Given the description of an element on the screen output the (x, y) to click on. 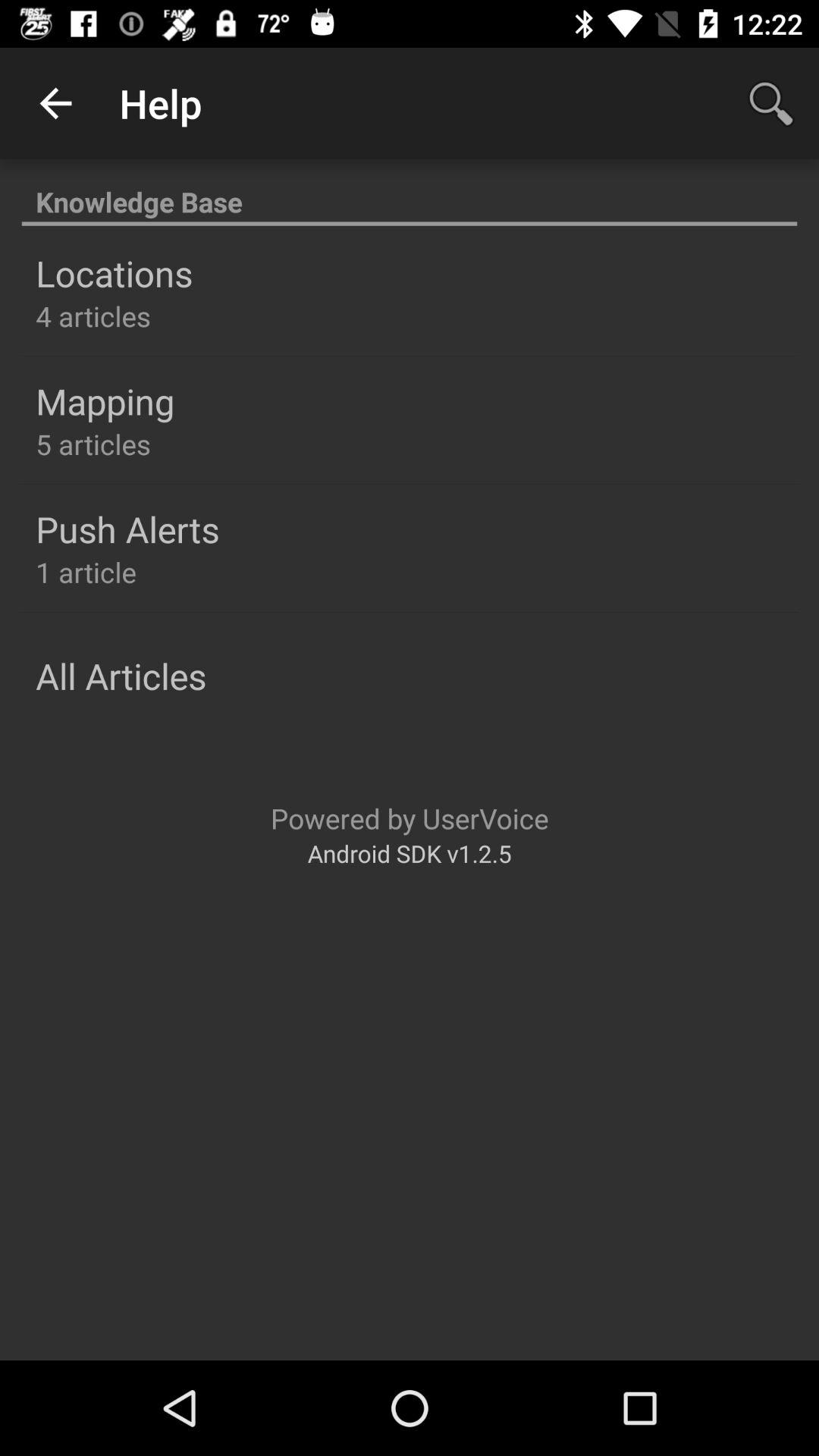
scroll to 1 article item (85, 571)
